Given the description of an element on the screen output the (x, y) to click on. 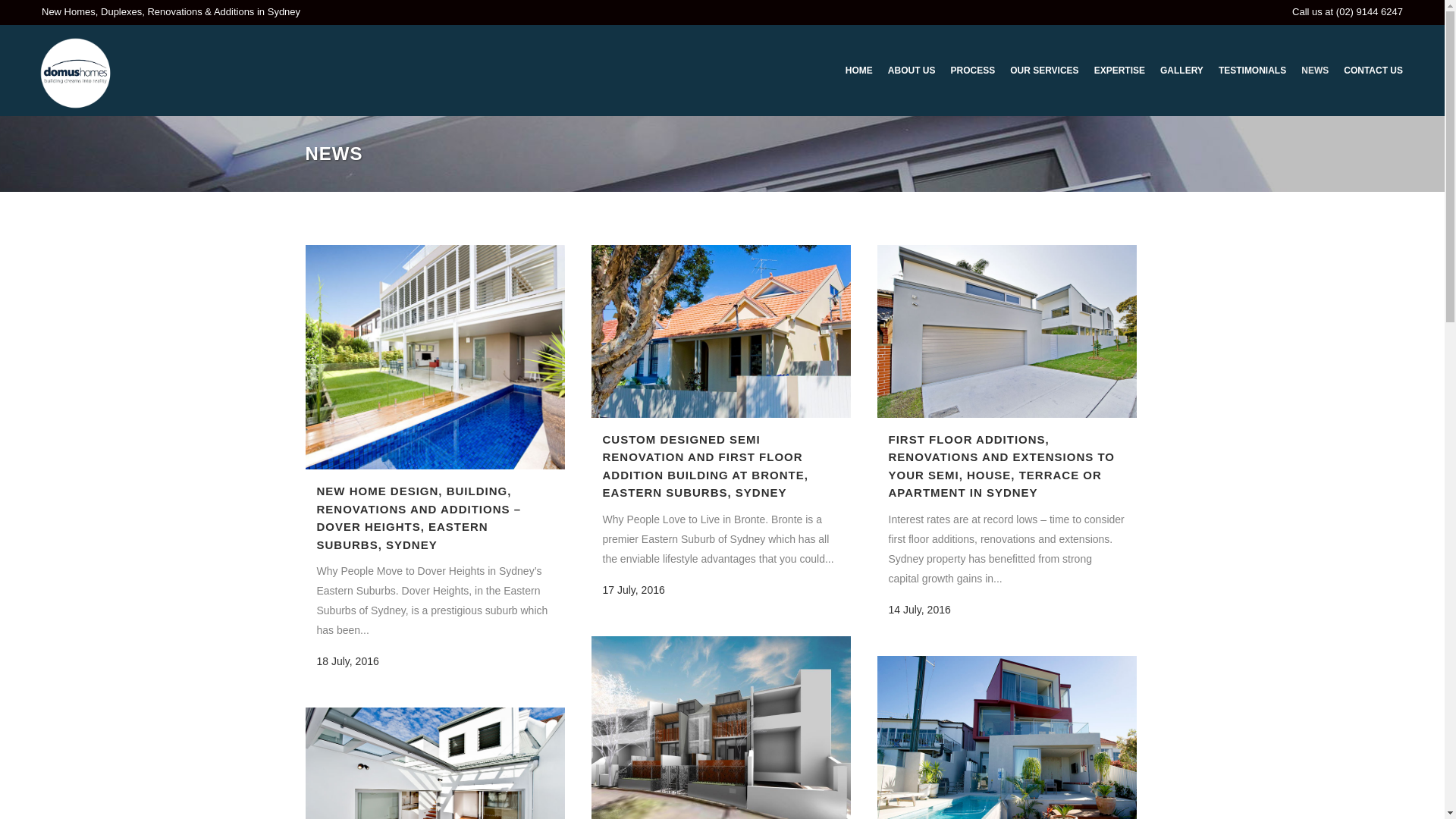
OUR SERVICES Element type: text (1043, 70)
PROCESS Element type: text (972, 70)
TESTIMONIALS Element type: text (1252, 70)
CONTACT US Element type: text (1373, 70)
NEWS Element type: text (1314, 70)
HOME Element type: text (858, 70)
ABOUT US Element type: text (911, 70)
EXPERTISE Element type: text (1119, 70)
GALLERY Element type: text (1181, 70)
